Given the description of an element on the screen output the (x, y) to click on. 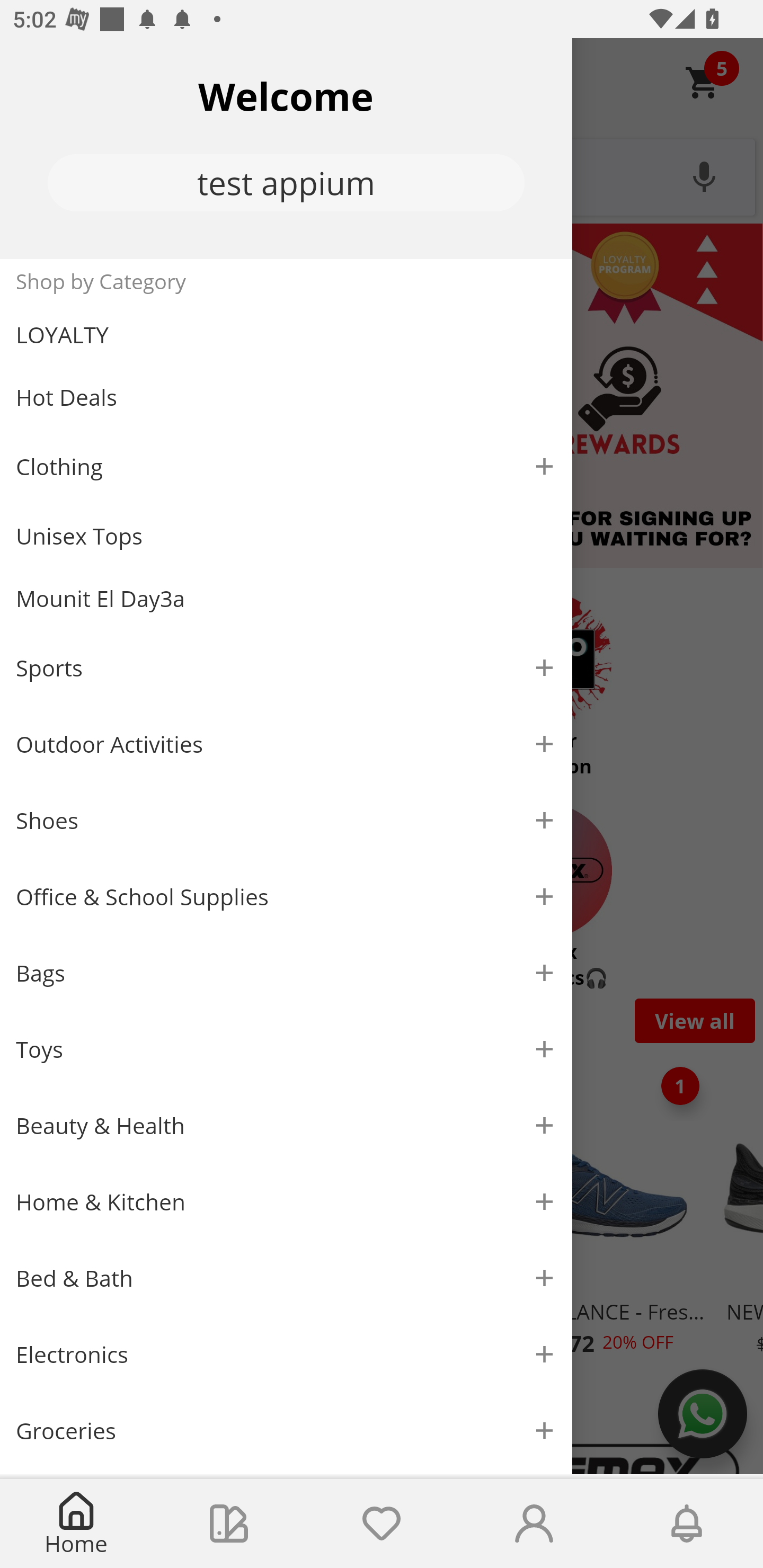
Welcome test appium (286, 147)
What are you looking for? (381, 175)
LOYALTY (286, 334)
Hot Deals (286, 396)
Clothing (286, 466)
Unisex Tops (286, 535)
Mounit El Day3a (286, 598)
Sports (286, 667)
Outdoor Activities (286, 743)
Shoes (286, 820)
Office & School Supplies (286, 896)
Bags (286, 972)
Toys (286, 1049)
Beauty & Health (286, 1125)
Home & Kitchen (286, 1201)
Bed & Bath (286, 1278)
Electronics (286, 1354)
Groceries (286, 1430)
Collections (228, 1523)
Wishlist (381, 1523)
Account (533, 1523)
Notifications (686, 1523)
